Given the description of an element on the screen output the (x, y) to click on. 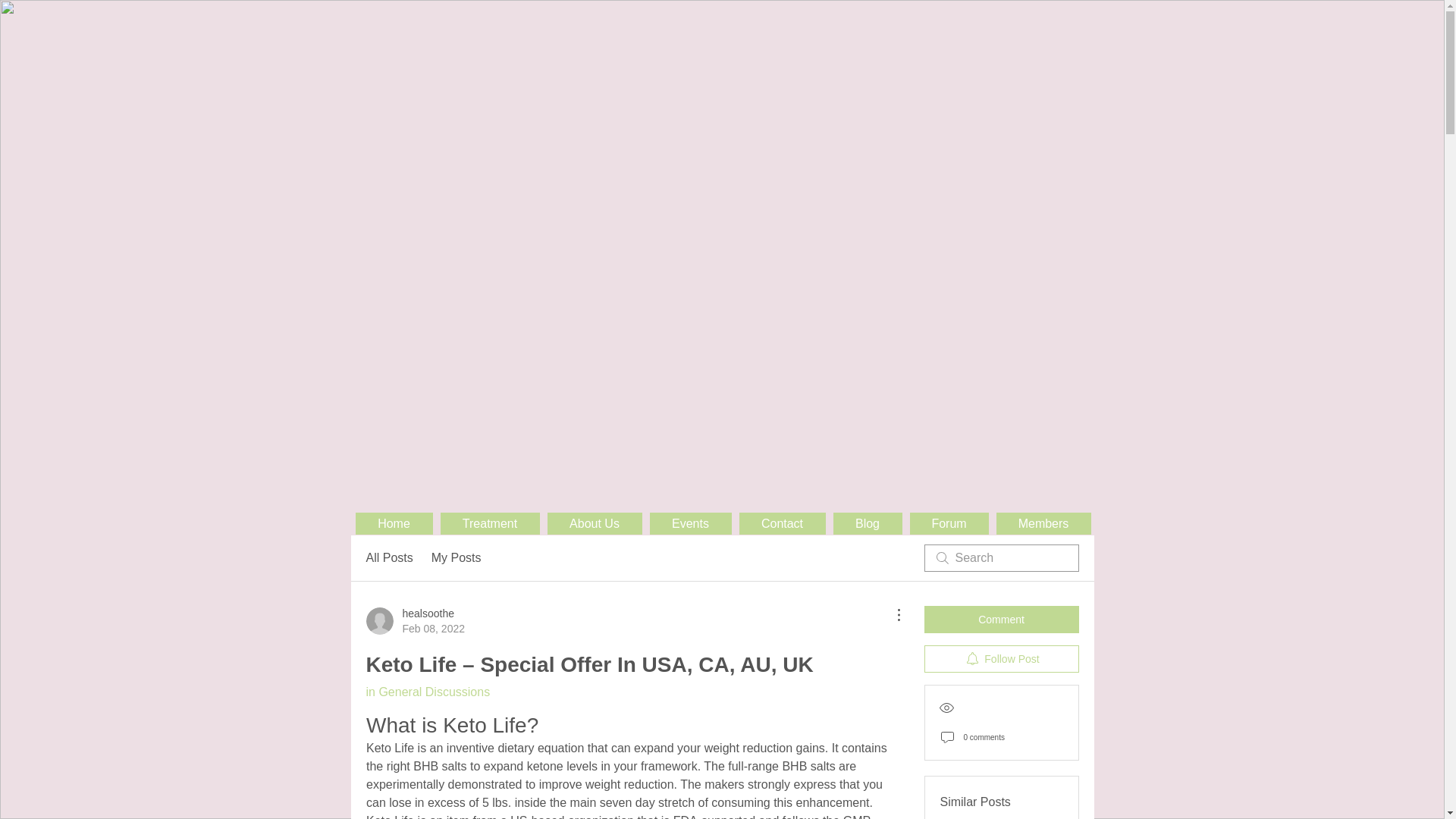
in General Discussions (427, 691)
Treatment (414, 621)
About Us (488, 523)
Contact (594, 523)
All Posts (781, 523)
Events (388, 557)
Home (689, 523)
Forum (393, 523)
Members (949, 523)
